Given the description of an element on the screen output the (x, y) to click on. 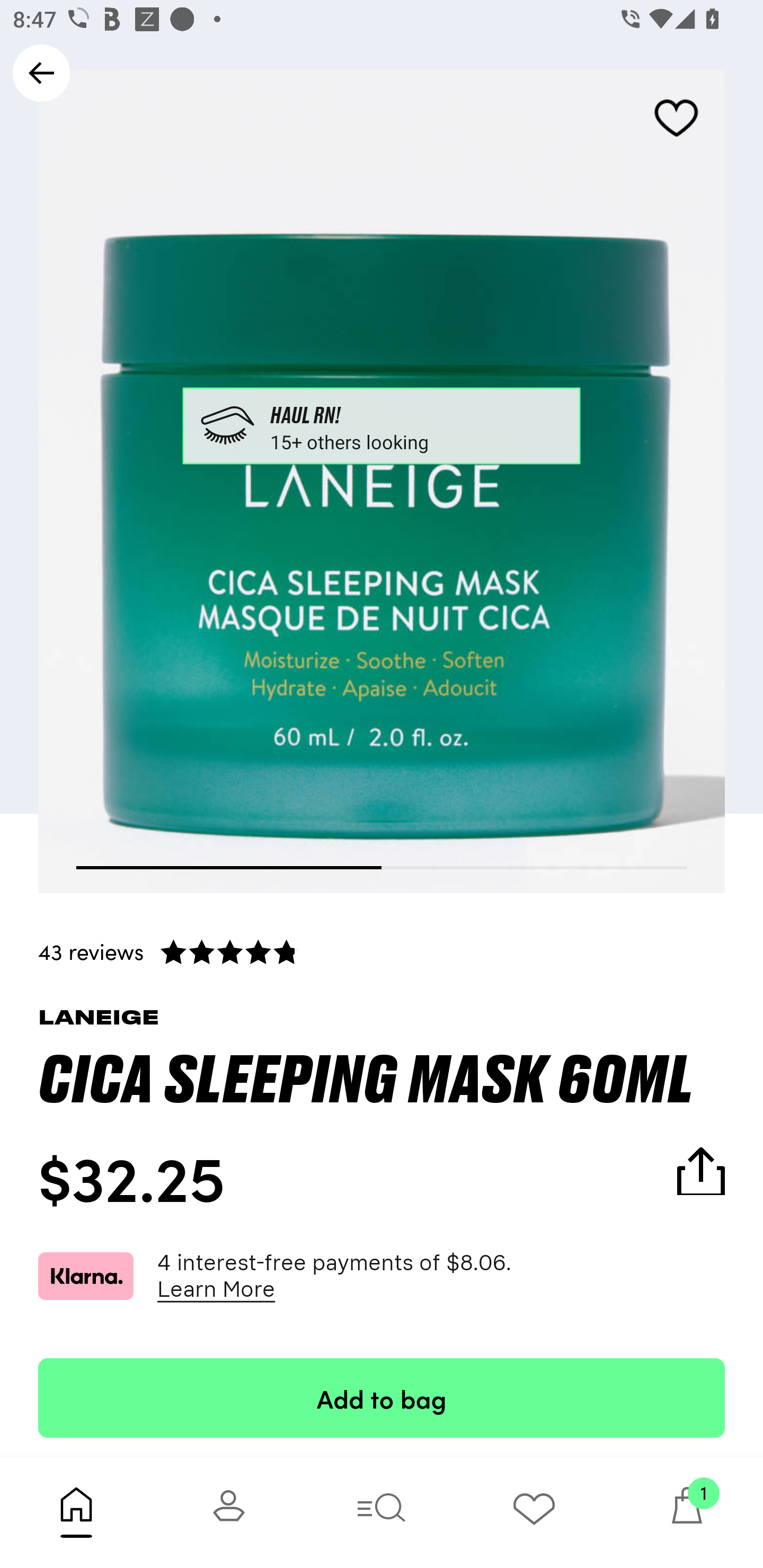
43 reviews (381, 950)
Add to bag (381, 1397)
1 (686, 1512)
